Given the description of an element on the screen output the (x, y) to click on. 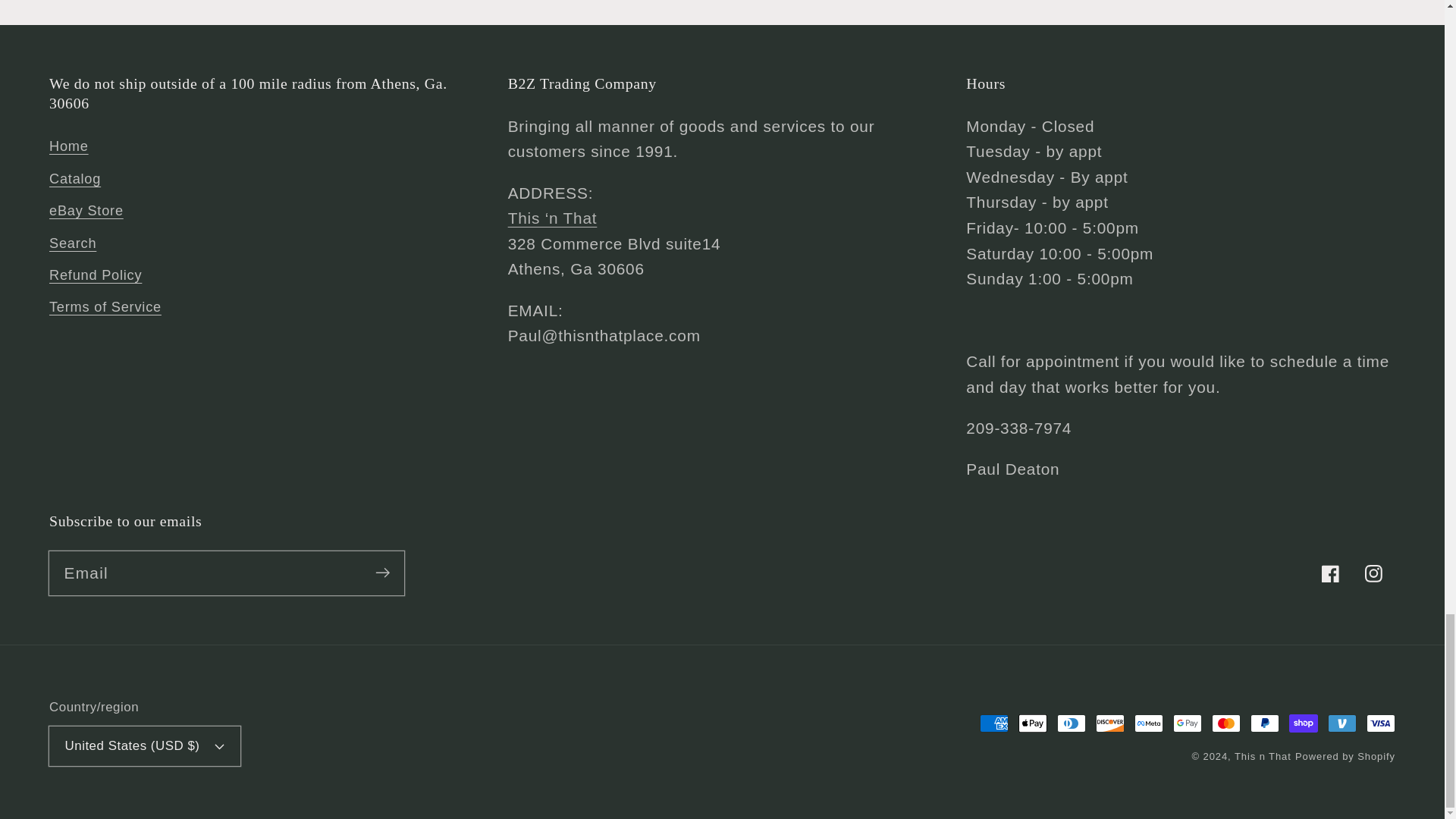
Home (68, 148)
This 'n That Place (552, 217)
eBay Store (86, 211)
Catalog (74, 178)
